Given the description of an element on the screen output the (x, y) to click on. 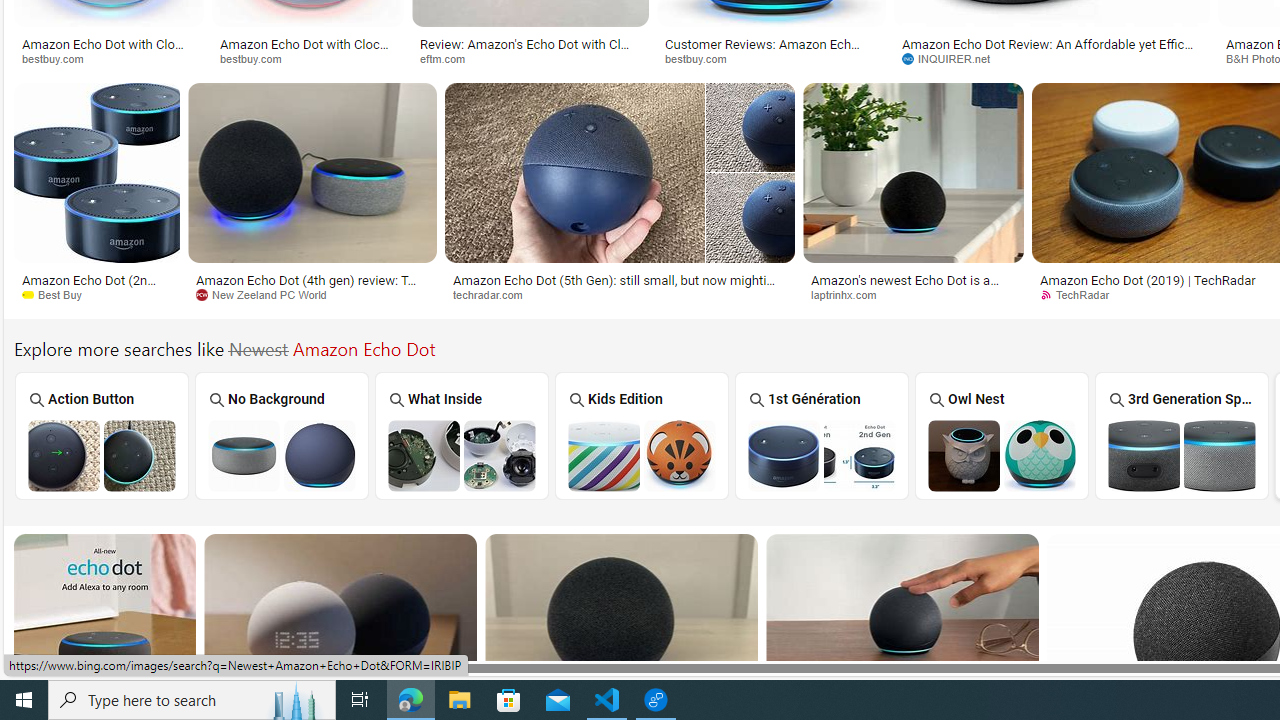
Best Buy (59, 294)
Amazon Echo Dot Photo No Background No Background (281, 435)
3rd Generation Speaker (1181, 435)
INQUIRER.net (1051, 58)
Amazon Echo Dot Action Button (102, 455)
INQUIRER.net (953, 57)
eftm.com (449, 57)
What Inside a Amazon Echo Dot (462, 455)
